Given the description of an element on the screen output the (x, y) to click on. 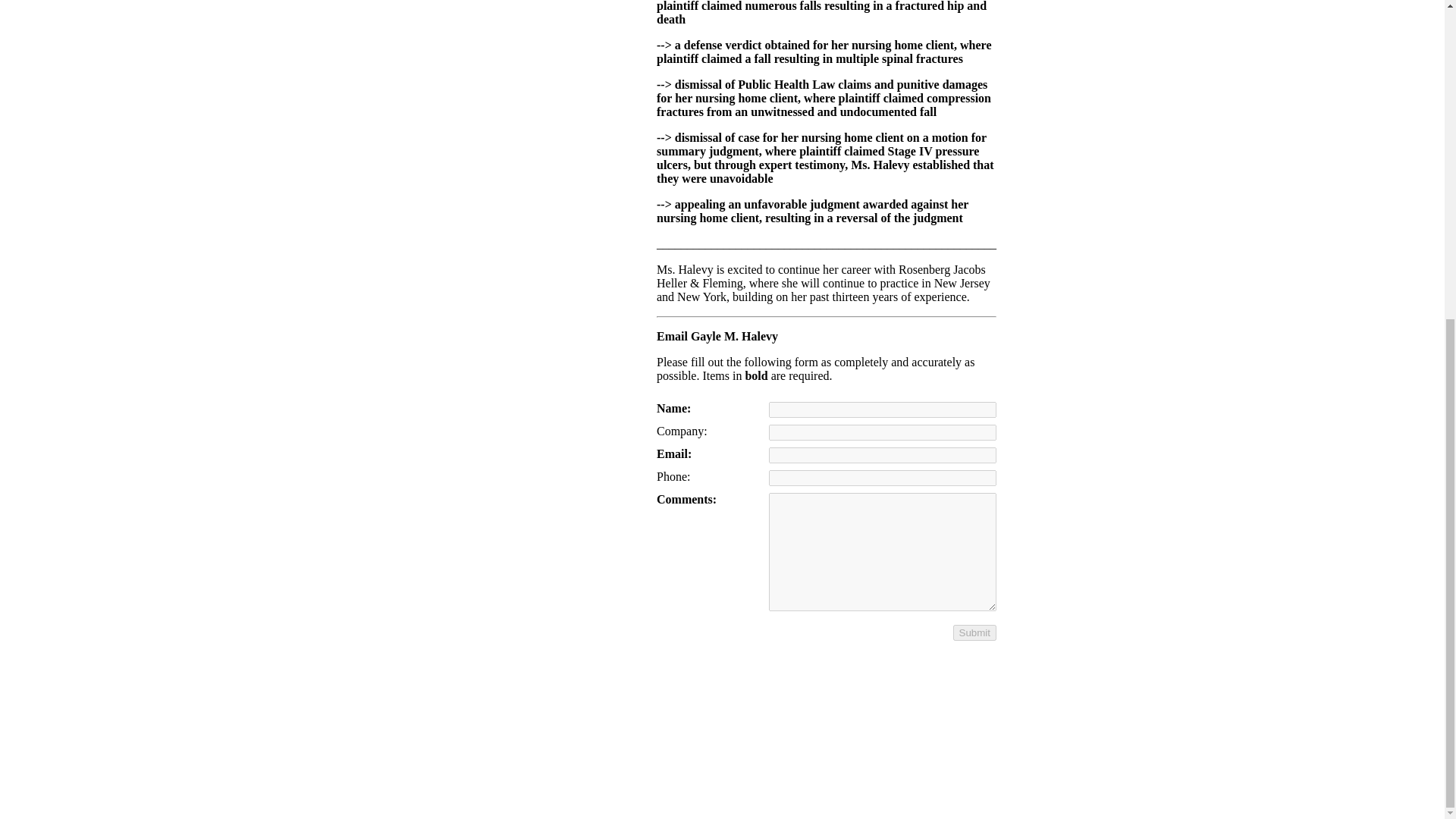
Submit (974, 632)
Submit (974, 632)
